Given the description of an element on the screen output the (x, y) to click on. 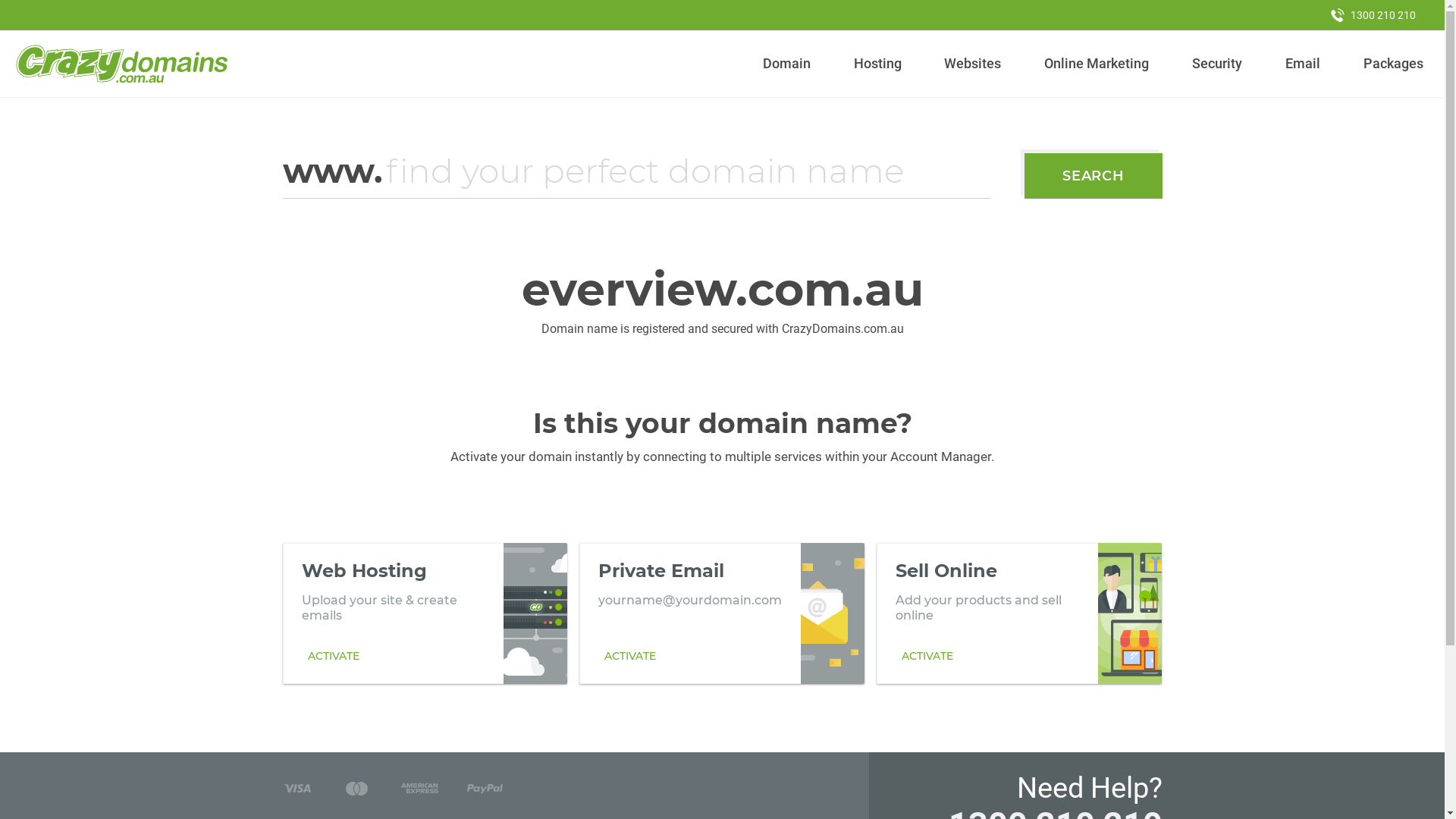
Domain Element type: text (786, 63)
Email Element type: text (1302, 63)
Sell Online
Add your products and sell online
ACTIVATE Element type: text (1018, 613)
SEARCH Element type: text (1092, 175)
Online Marketing Element type: text (1096, 63)
Hosting Element type: text (877, 63)
Websites Element type: text (972, 63)
1300 210 210 Element type: text (1373, 15)
Security Element type: text (1217, 63)
Web Hosting
Upload your site & create emails
ACTIVATE Element type: text (424, 613)
Private Email
yourname@yourdomain.com
ACTIVATE Element type: text (721, 613)
Packages Element type: text (1392, 63)
